Given the description of an element on the screen output the (x, y) to click on. 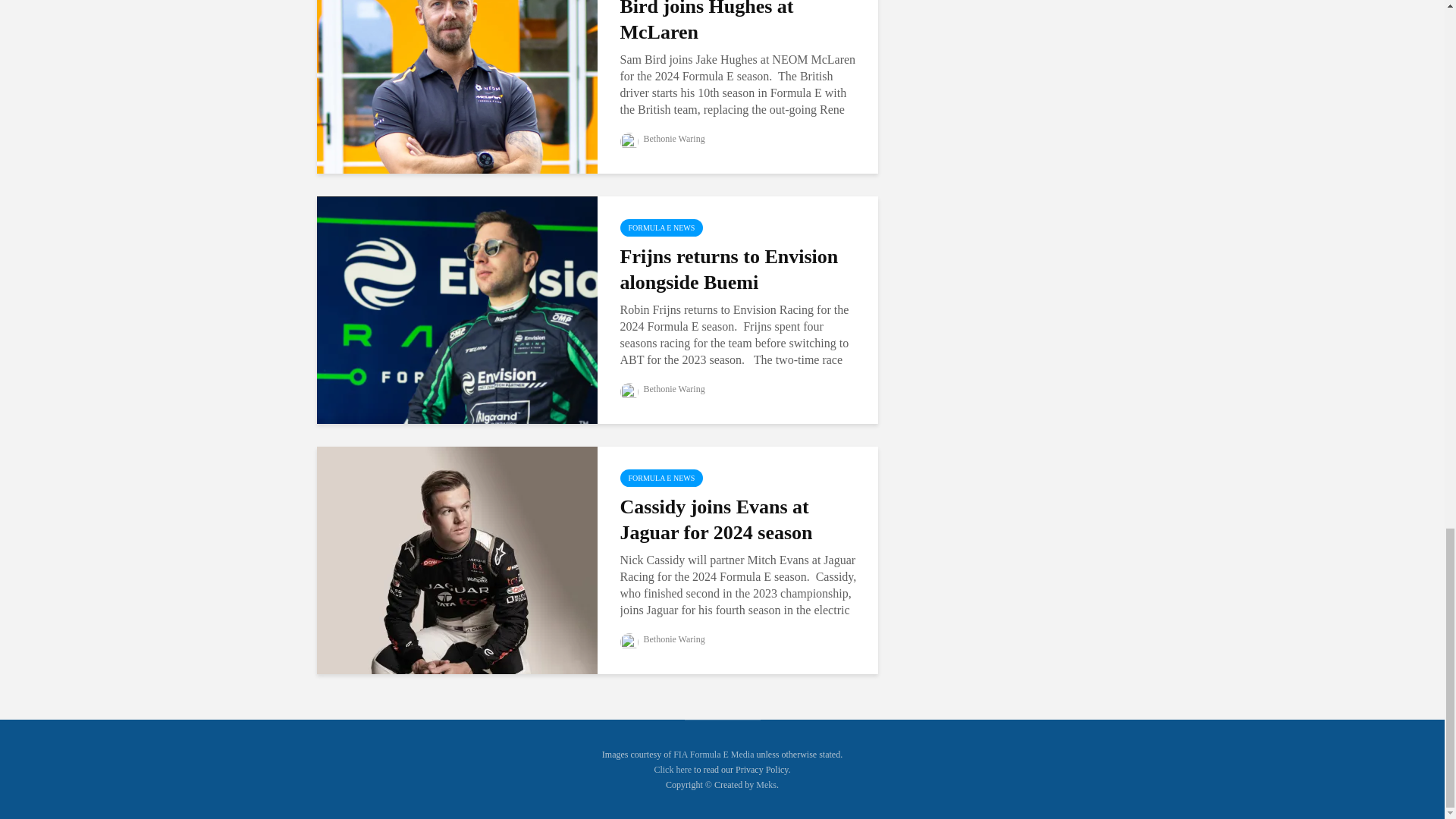
Frijns returns to Envision alongside Buemi (456, 308)
Bird joins Hughes at McLaren (456, 58)
Cassidy joins Evans at Jaguar for 2024 season (456, 558)
